Given the description of an element on the screen output the (x, y) to click on. 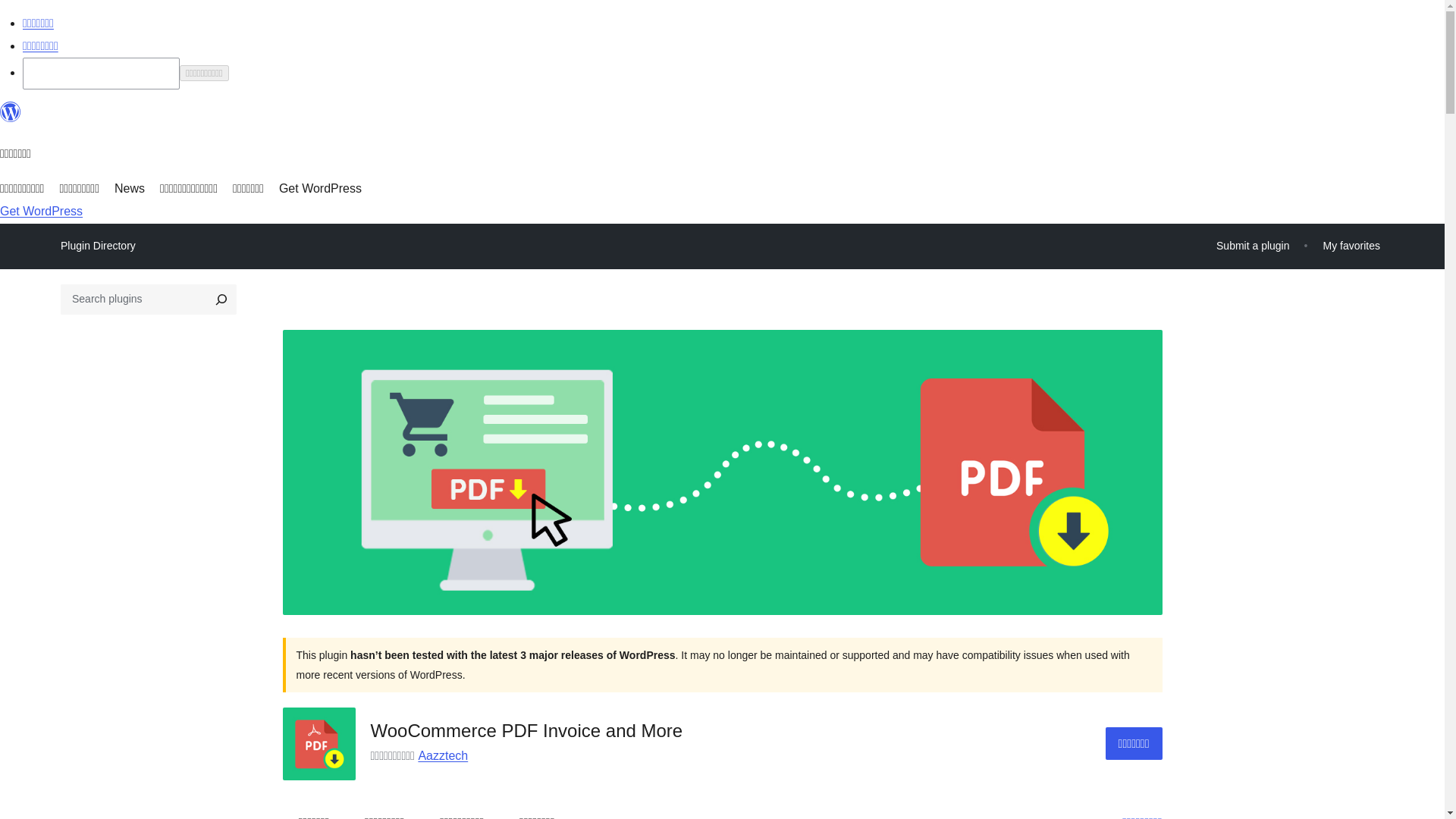
News (129, 188)
Submit a plugin (1253, 246)
Get WordPress (320, 188)
WordPress.org (10, 111)
WordPress.org (10, 118)
Get WordPress (41, 210)
My favorites (1351, 246)
Aazztech (442, 755)
Plugin Directory (97, 245)
